Given the description of an element on the screen output the (x, y) to click on. 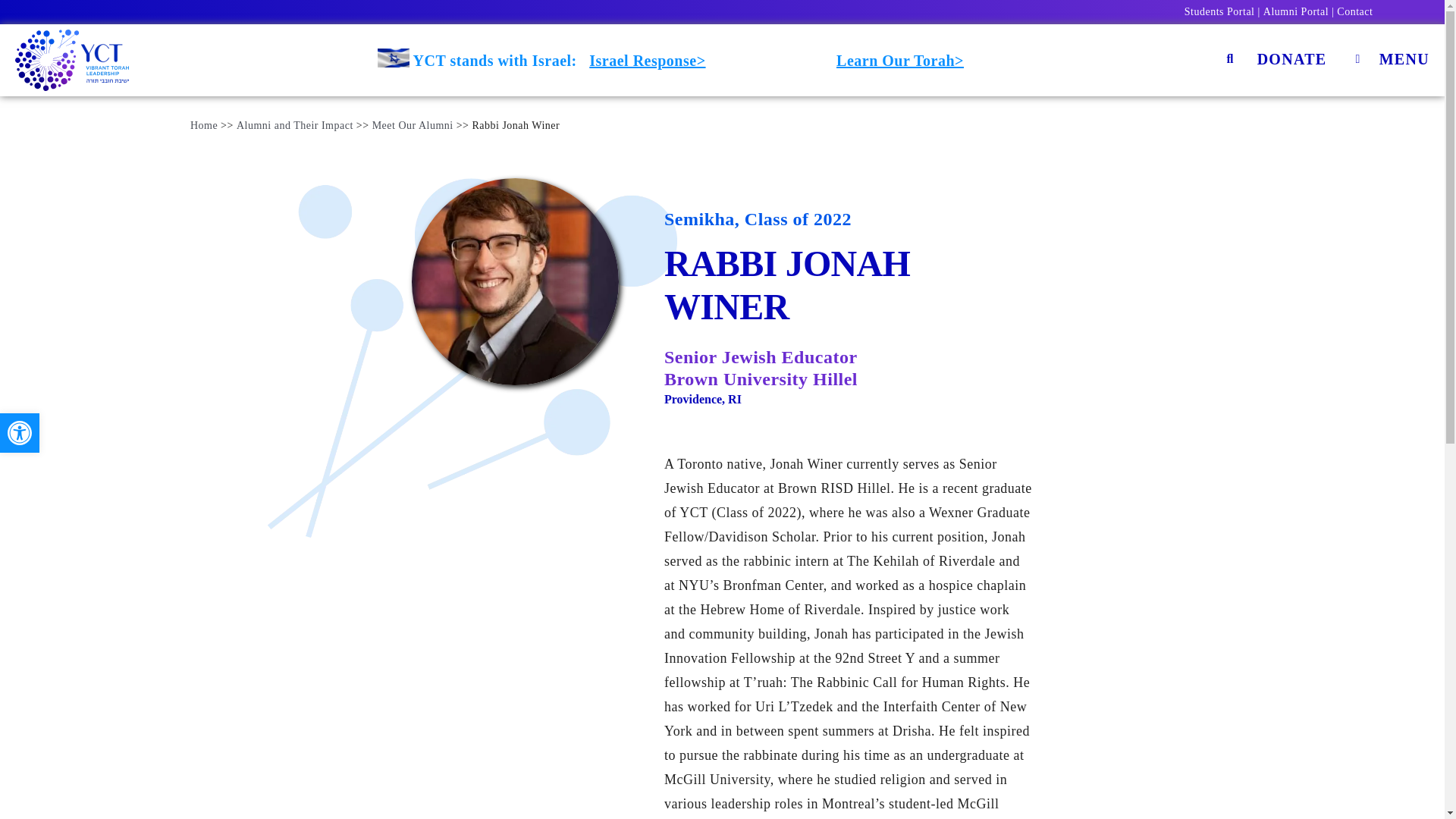
Students Portal (1220, 11)
Jonah Winer (515, 281)
MENU (1389, 59)
Contact (1354, 11)
DONATE (1291, 59)
